Given the description of an element on the screen output the (x, y) to click on. 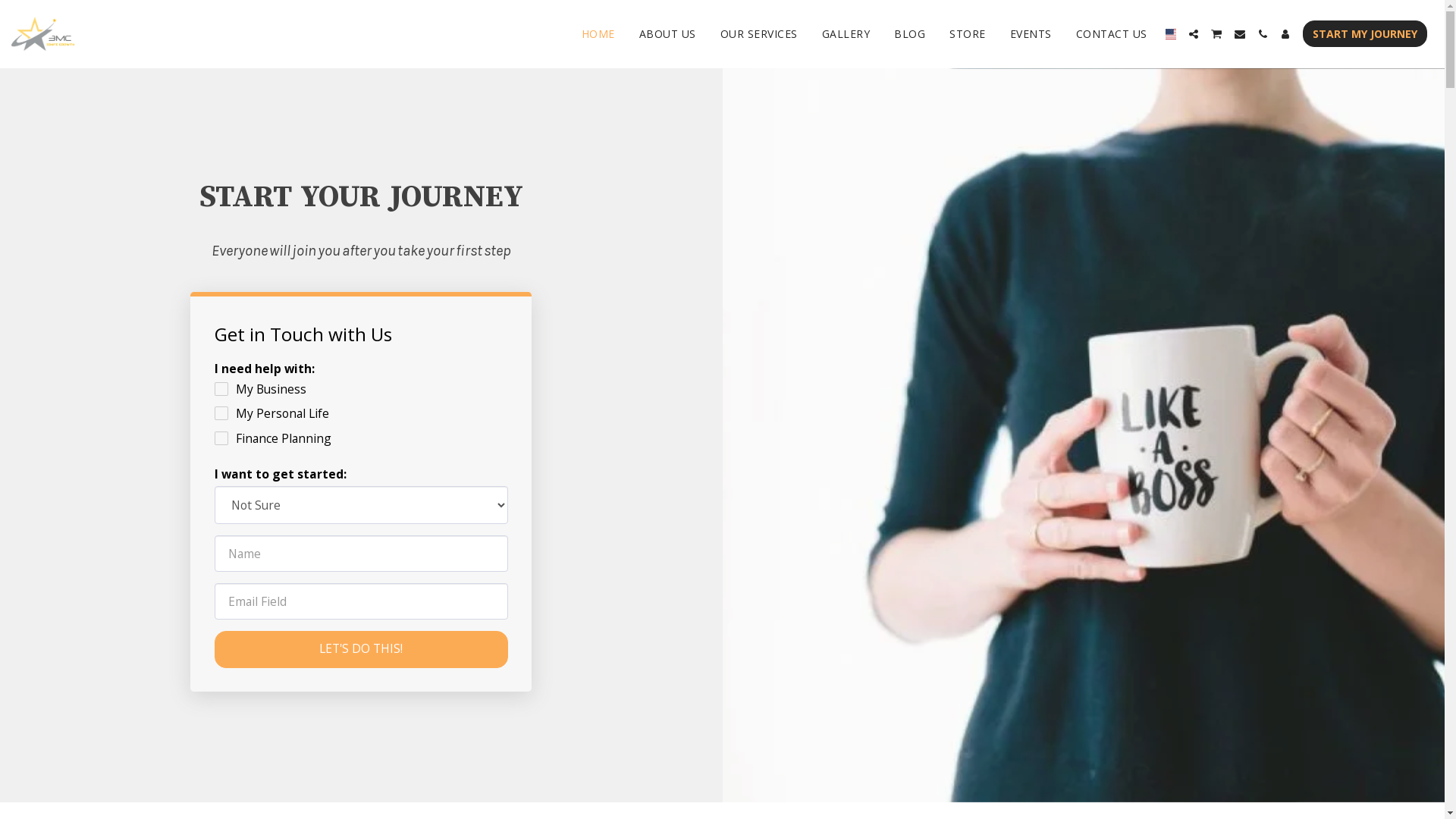
GALLERY Element type: text (845, 32)
ABOUT US Element type: text (667, 32)
  Element type: text (1284, 33)
  Element type: text (1216, 33)
START MY JOURNEY Element type: text (1364, 33)
  Element type: text (1193, 33)
EVENTS Element type: text (1030, 32)
STORE Element type: text (967, 32)
START MY JOURNEY Element type: text (1364, 33)
OUR SERVICES Element type: text (759, 32)
CONTACT US Element type: text (1111, 32)
  Element type: text (1262, 33)
HOME Element type: text (598, 32)
BLOG Element type: text (909, 32)
LET'S DO THIS! Element type: text (361, 649)
  Element type: text (1239, 33)
